Given the description of an element on the screen output the (x, y) to click on. 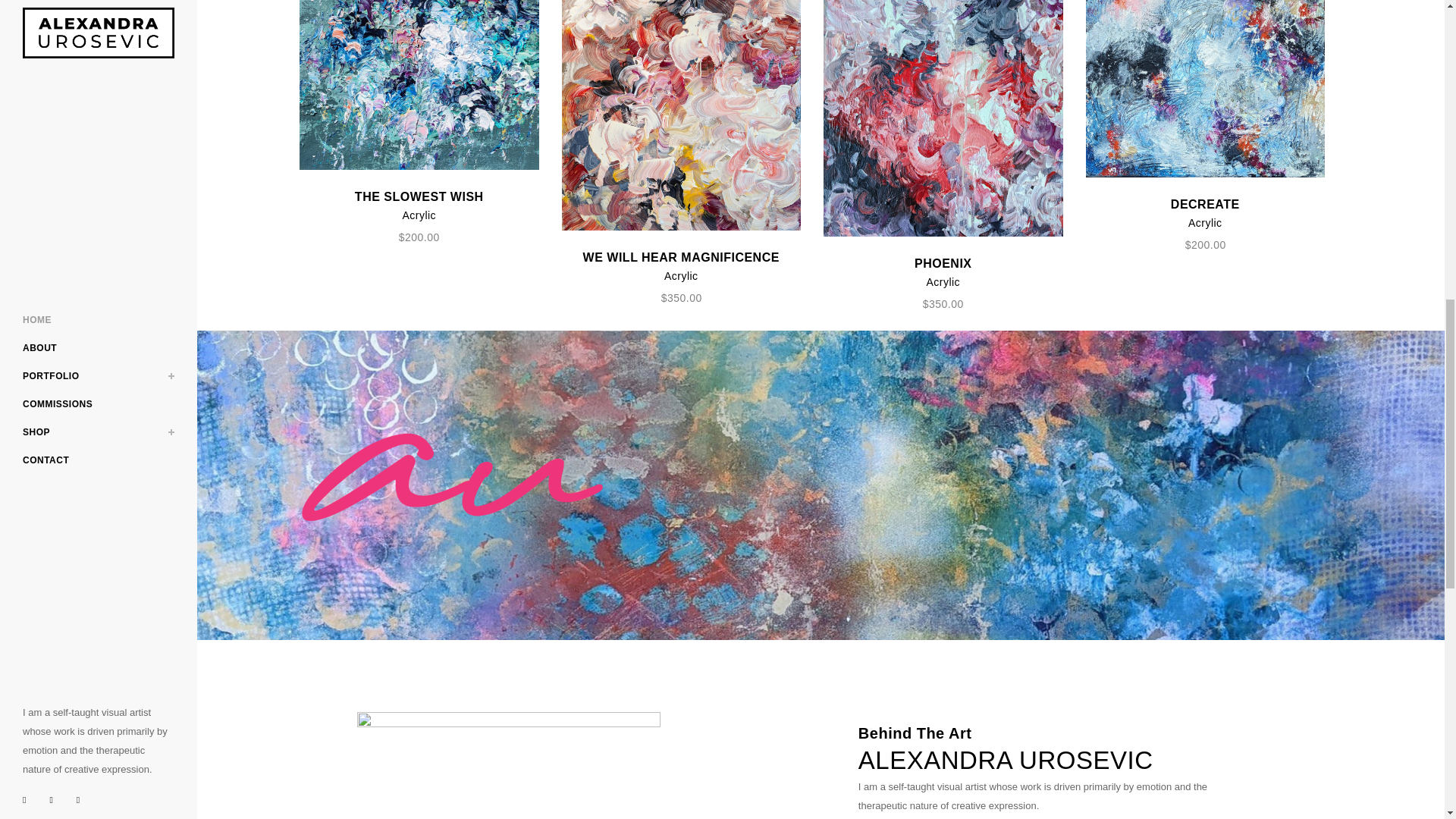
Phoenix (943, 118)
The Slowest Wish (418, 84)
Decreate (1205, 89)
We Will Hear Magnificence (680, 115)
